Given the description of an element on the screen output the (x, y) to click on. 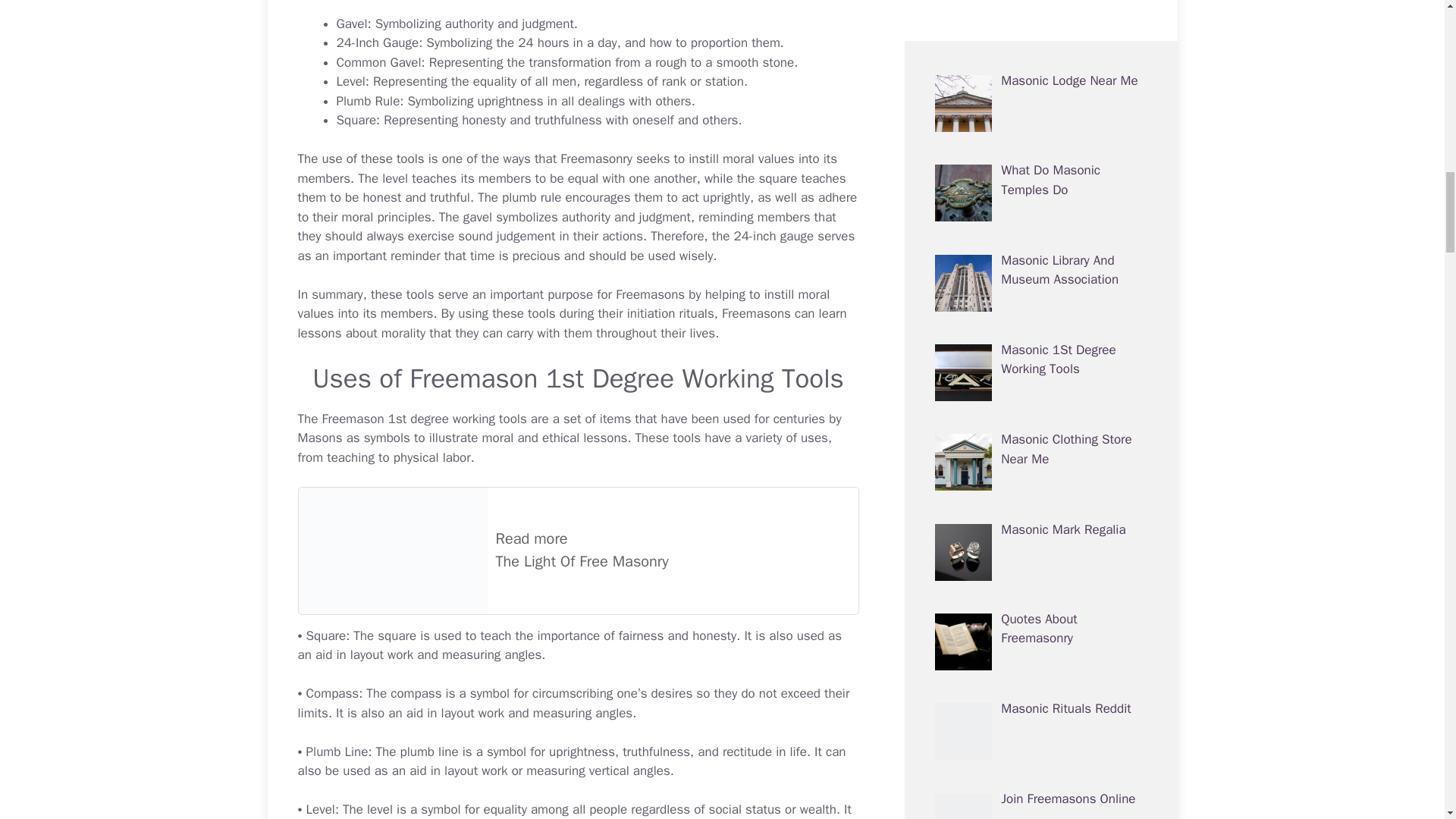
Freemasonry (595, 158)
Freemasonry (578, 550)
